Given the description of an element on the screen output the (x, y) to click on. 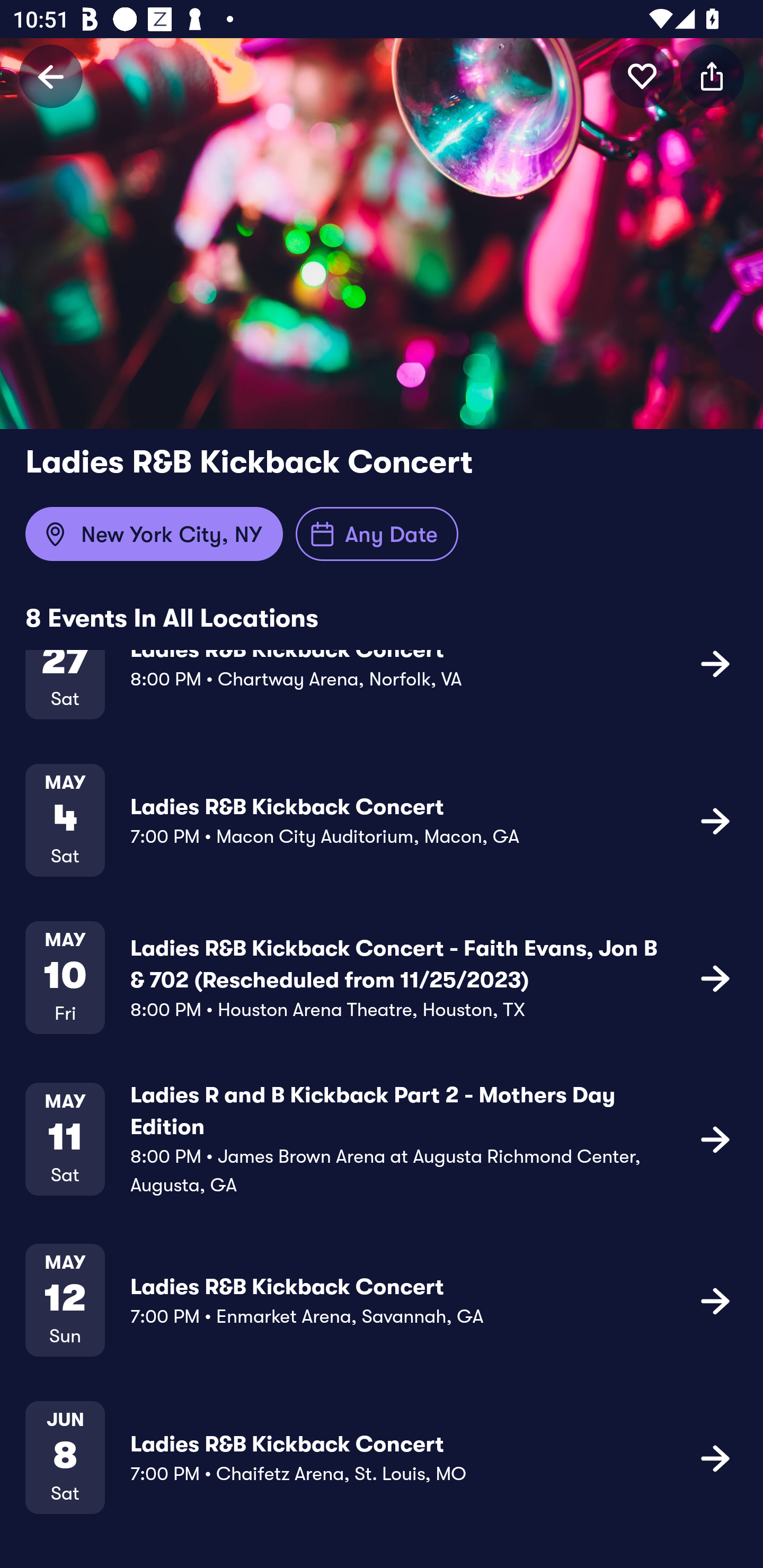
Back (50, 75)
icon button (641, 75)
icon button (711, 75)
New York City, NY (153, 533)
Any Date (377, 533)
icon button (714, 663)
icon button (714, 820)
icon button (714, 977)
icon button (714, 1138)
icon button (714, 1300)
icon button (714, 1458)
